Given the description of an element on the screen output the (x, y) to click on. 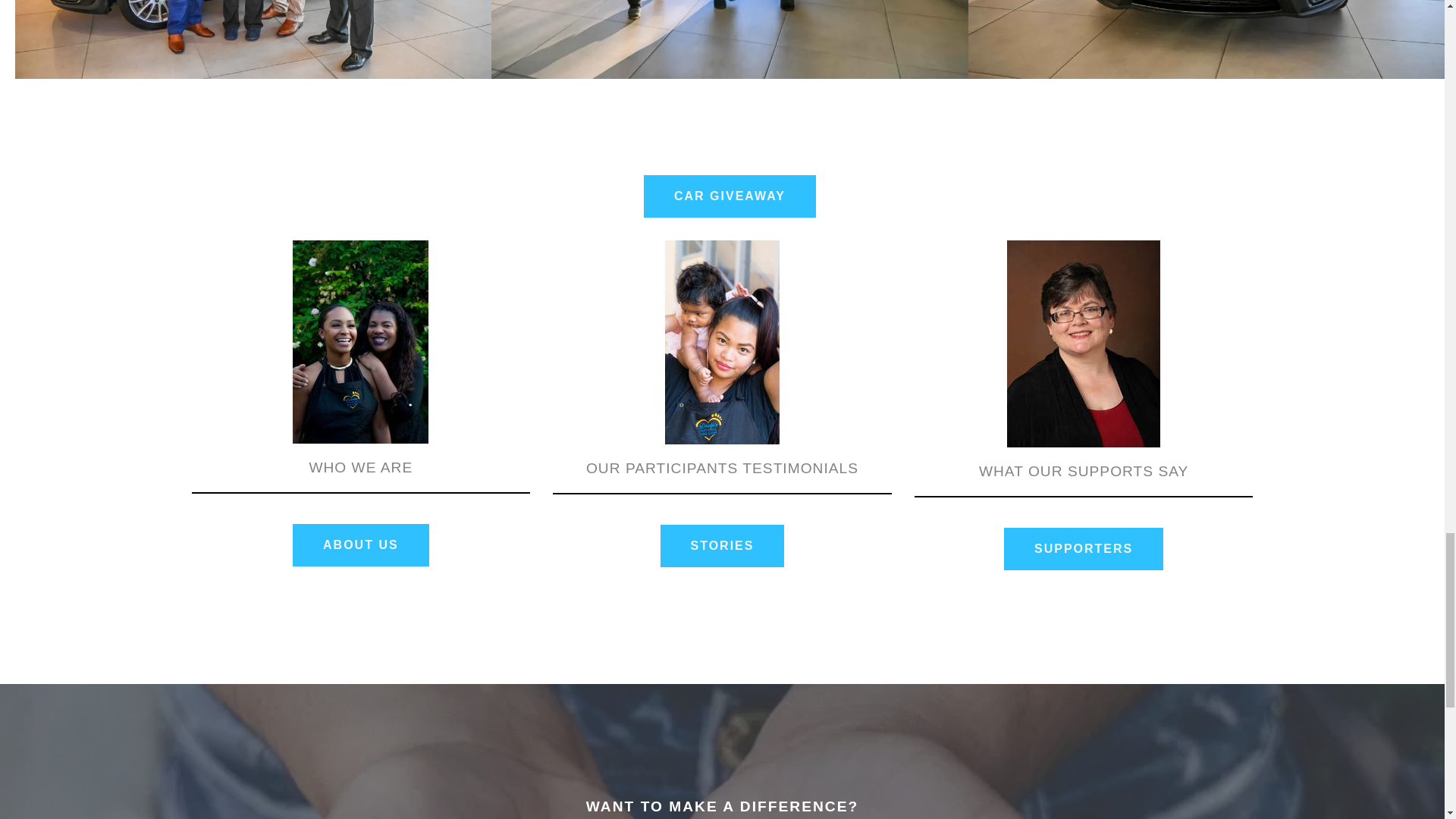
CAR GIVEAWAY (729, 196)
SUPPORTERS (1083, 548)
ABOUT US (360, 545)
STORIES (721, 545)
